Given the description of an element on the screen output the (x, y) to click on. 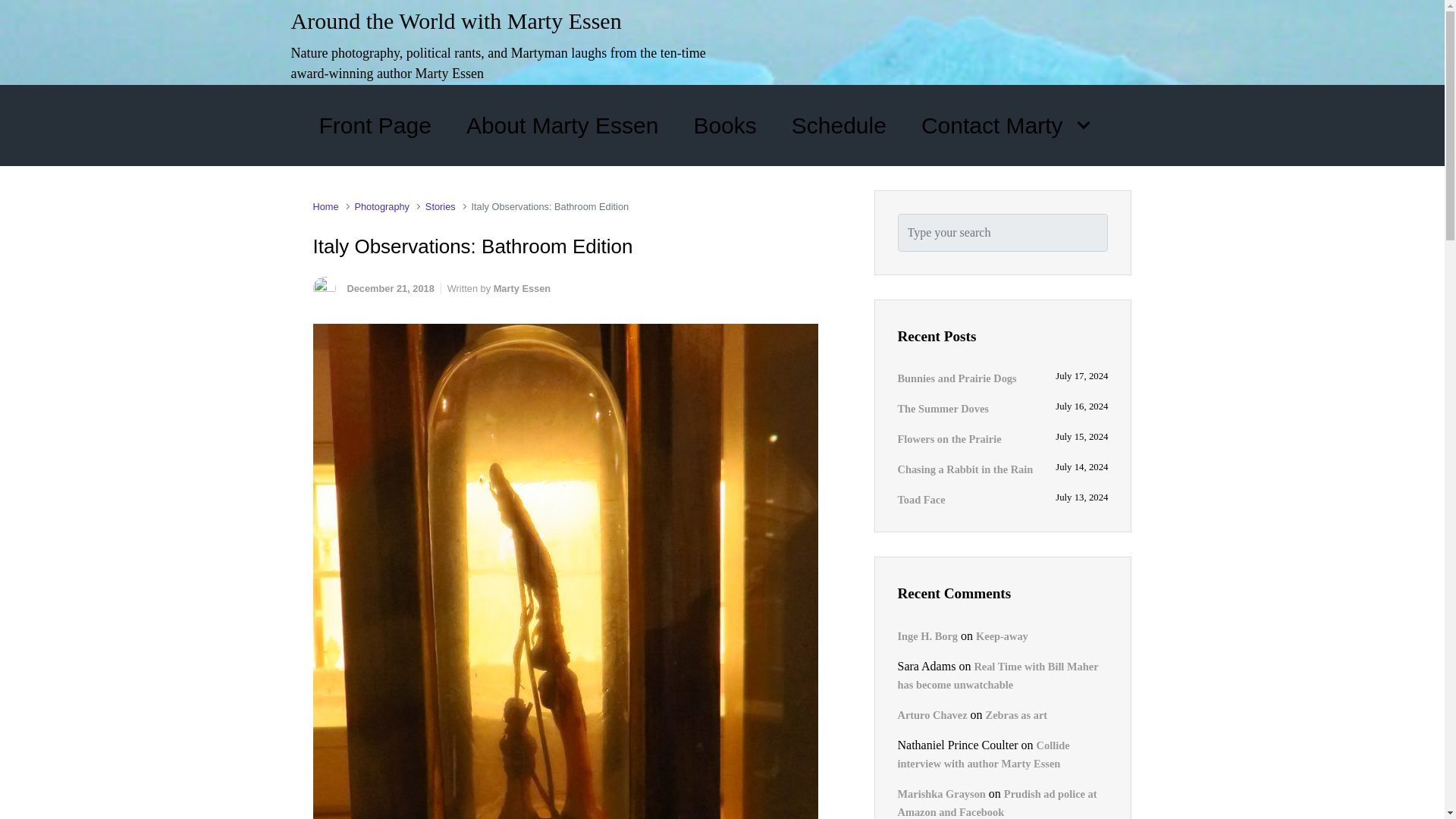
Front Page (374, 124)
Home (325, 206)
Contact Marty (1004, 124)
Schedule (839, 124)
Photography (381, 206)
Photography (381, 206)
View all posts by Marty Essen (521, 288)
Around the World with Marty Essen (456, 20)
Marty Essen (521, 288)
Books (724, 124)
Skip to main content (18, 10)
Stories (440, 206)
Stories (440, 206)
About Marty Essen (561, 124)
